Given the description of an element on the screen output the (x, y) to click on. 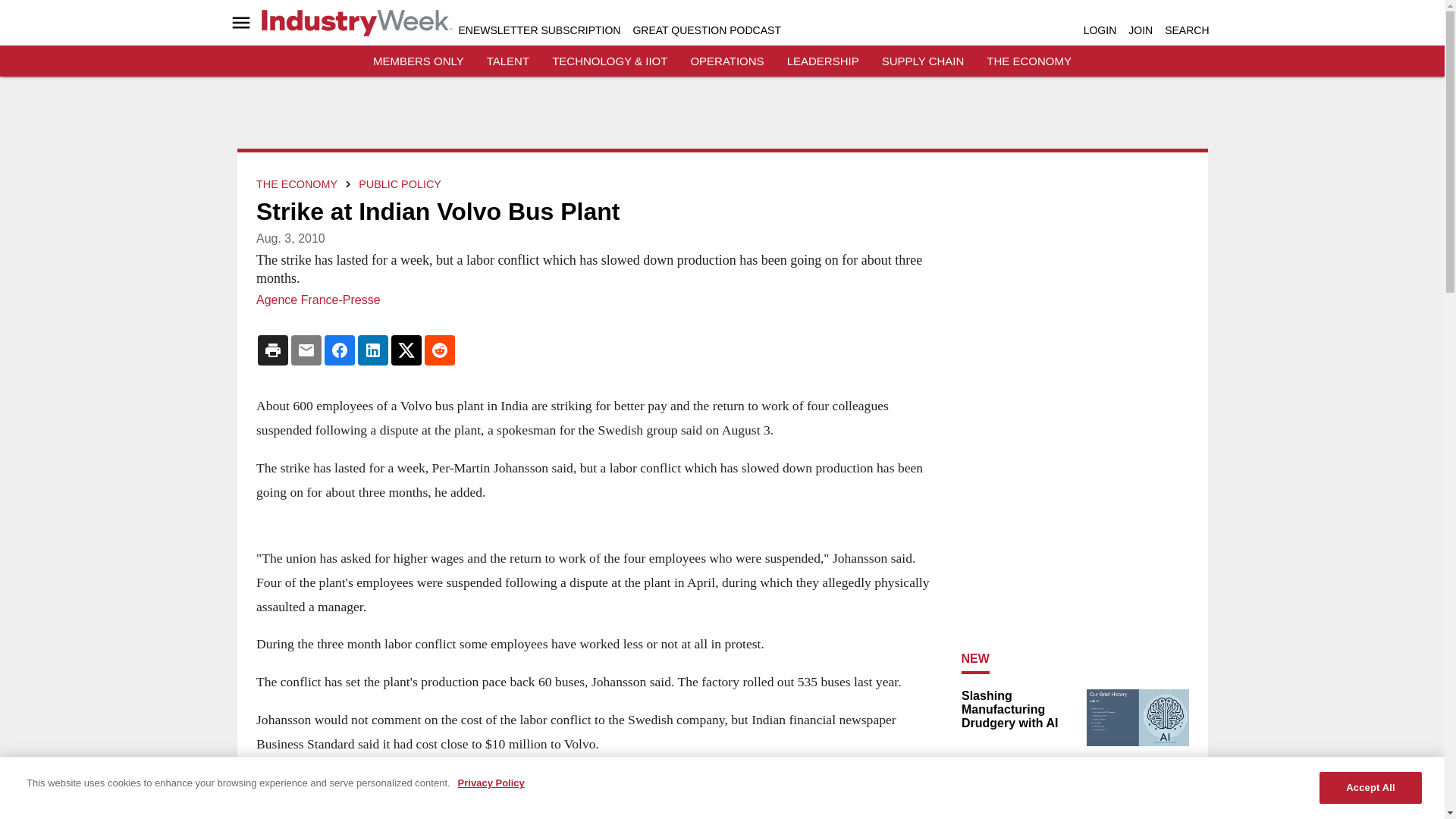
SEARCH (1186, 30)
ENEWSLETTER SUBSCRIPTION (539, 30)
GREAT QUESTION PODCAST (705, 30)
OPERATIONS (726, 60)
LOGIN (1099, 30)
LEADERSHIP (823, 60)
SUPPLY CHAIN (922, 60)
THE ECONOMY (1029, 60)
JOIN (1140, 30)
MEMBERS ONLY (418, 60)
